Given the description of an element on the screen output the (x, y) to click on. 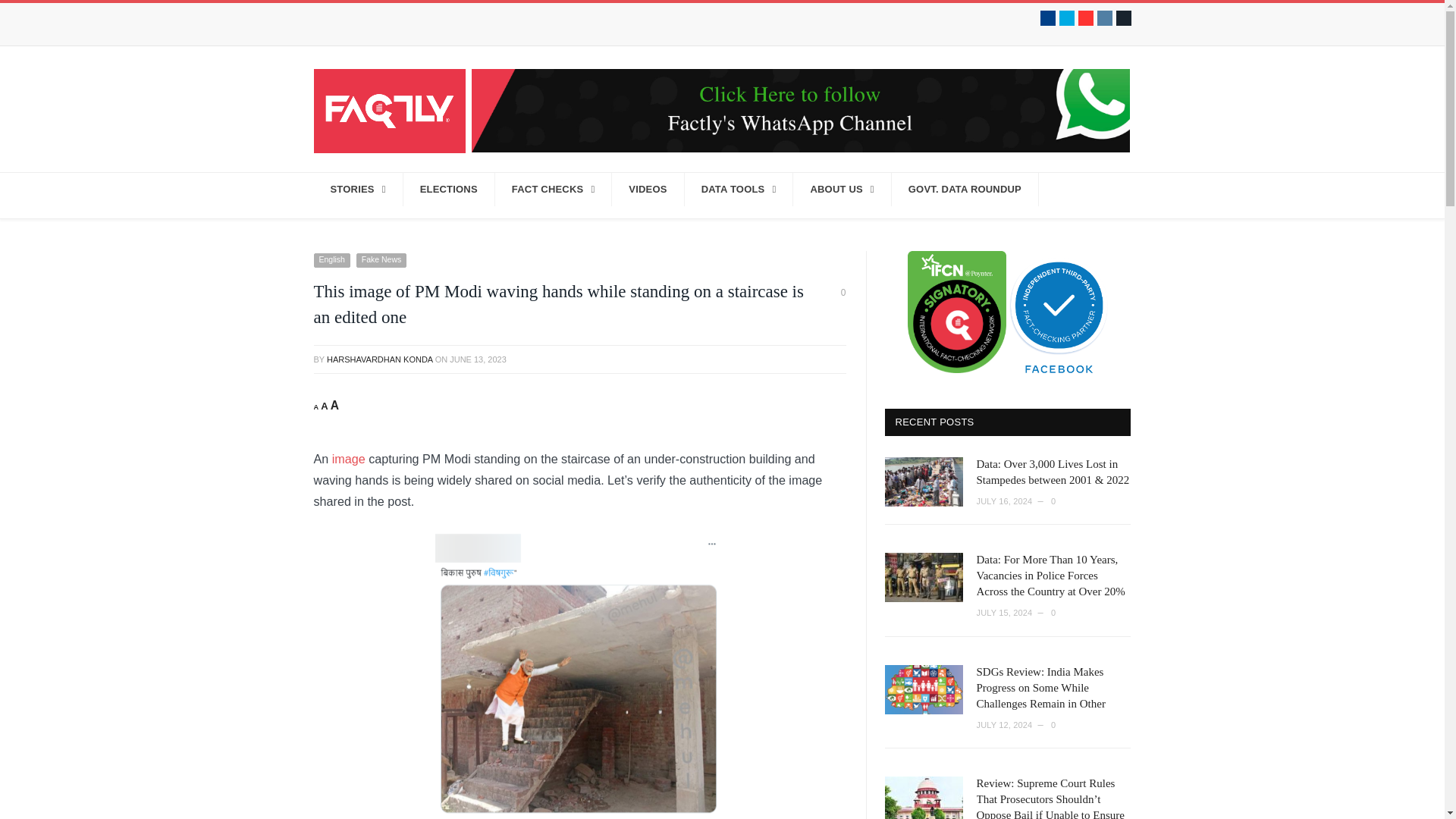
Subscribe (1123, 17)
Search (1115, 195)
ELECTIONS (449, 189)
Instagram (1104, 17)
Youtube (1085, 17)
FACT CHECKS (553, 189)
Twitter (1066, 17)
FACTLY (389, 108)
Instagram (1104, 17)
Twitter (1066, 17)
STORIES (358, 189)
Facebook (1048, 17)
Youtube (1085, 17)
Facebook (1048, 17)
Subscribe (1123, 17)
